Given the description of an element on the screen output the (x, y) to click on. 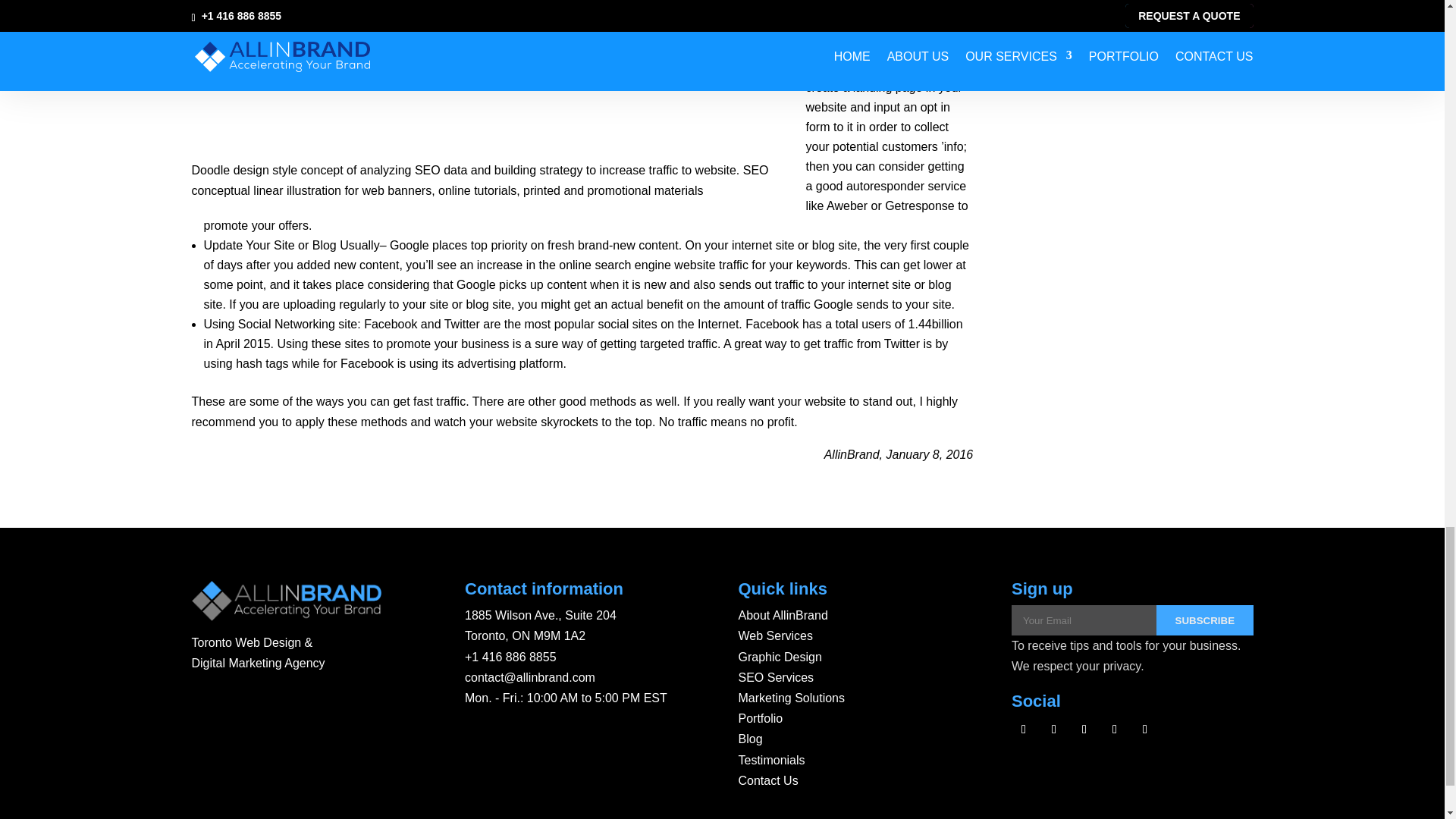
Follow on Instagram (1083, 729)
About AllinBrand (783, 615)
Testimonials (771, 759)
Follow on Twitter (1053, 729)
Contact Us (767, 780)
Follow on LinkedIn (1144, 729)
Web Services (775, 635)
Marketing Solutions (791, 697)
SUBSCRIBE (1204, 620)
SUBSCRIBE (1204, 620)
